Given the description of an element on the screen output the (x, y) to click on. 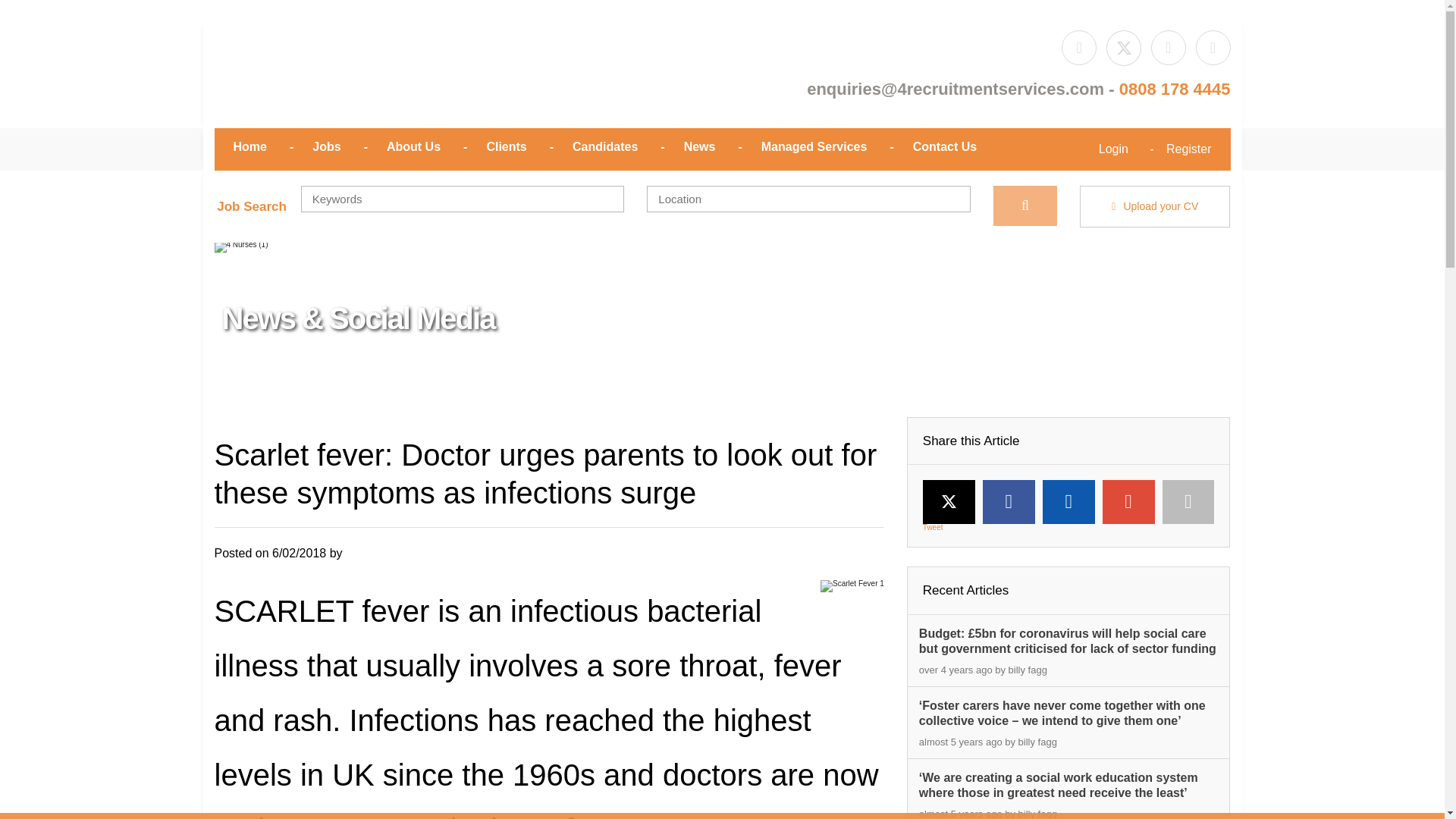
Home (373, 75)
Email (1187, 501)
0808 178 4445 (1174, 88)
LinkedIn (1068, 501)
Email (954, 88)
Twitter (949, 501)
Facebook (1008, 501)
Search (1024, 205)
Email (1213, 47)
